Given the description of an element on the screen output the (x, y) to click on. 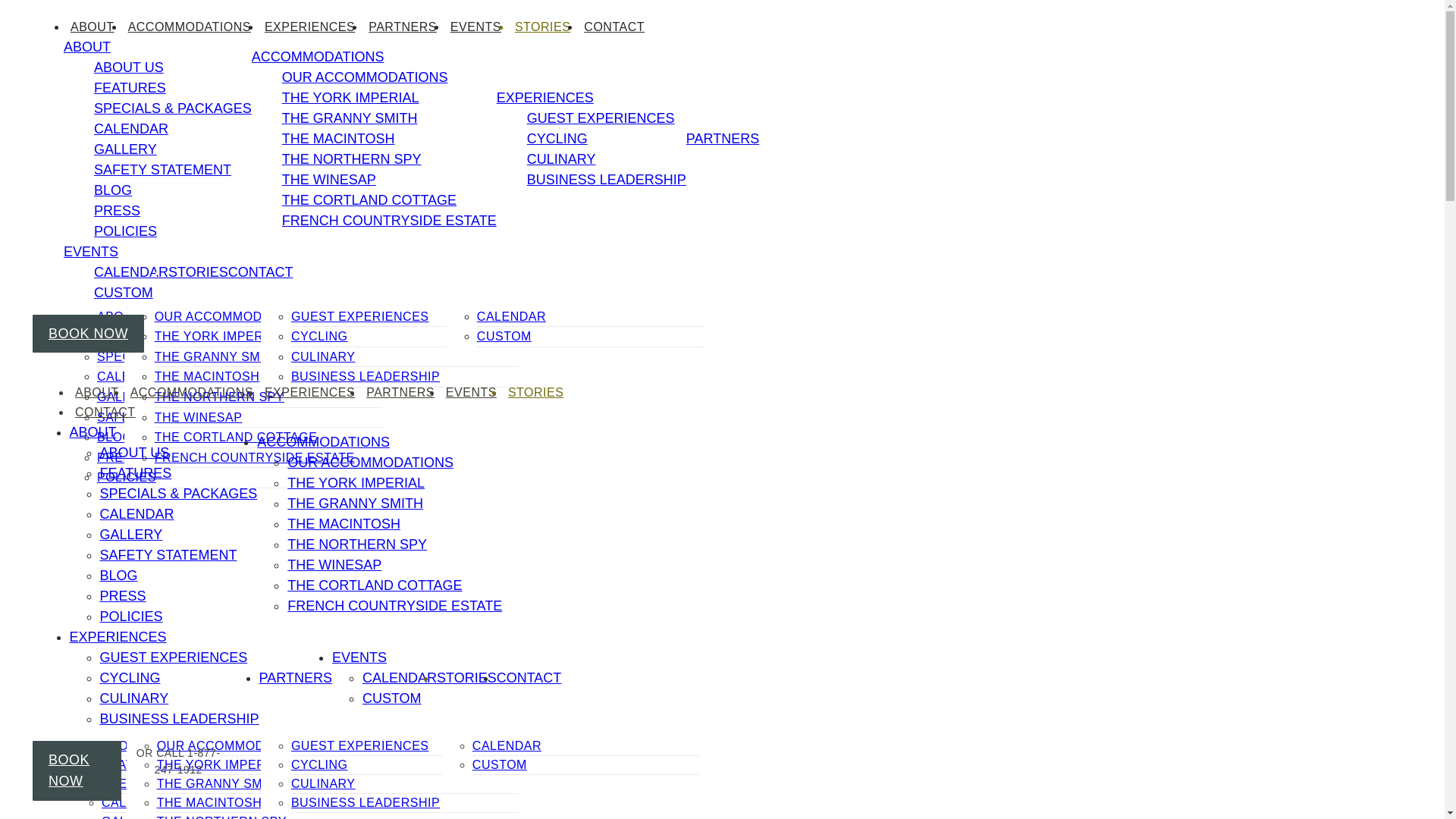
FRENCH COUNTRYSIDE ESTATE (254, 457)
ACCOMMODATIONS (188, 26)
PRESS (118, 457)
POLICIES (126, 477)
ABOUT (87, 46)
STORIES (542, 26)
THE WINESAP (198, 417)
THE GRANNY SMITH (217, 356)
FEATURES (130, 336)
OUR ACCOMMODATIONS (231, 316)
